Given the description of an element on the screen output the (x, y) to click on. 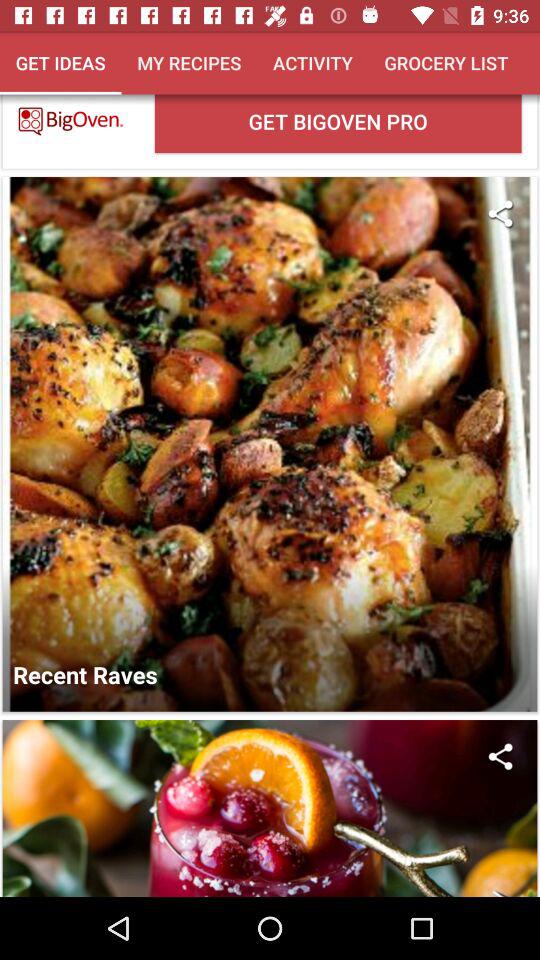
sharing options (500, 213)
